Given the description of an element on the screen output the (x, y) to click on. 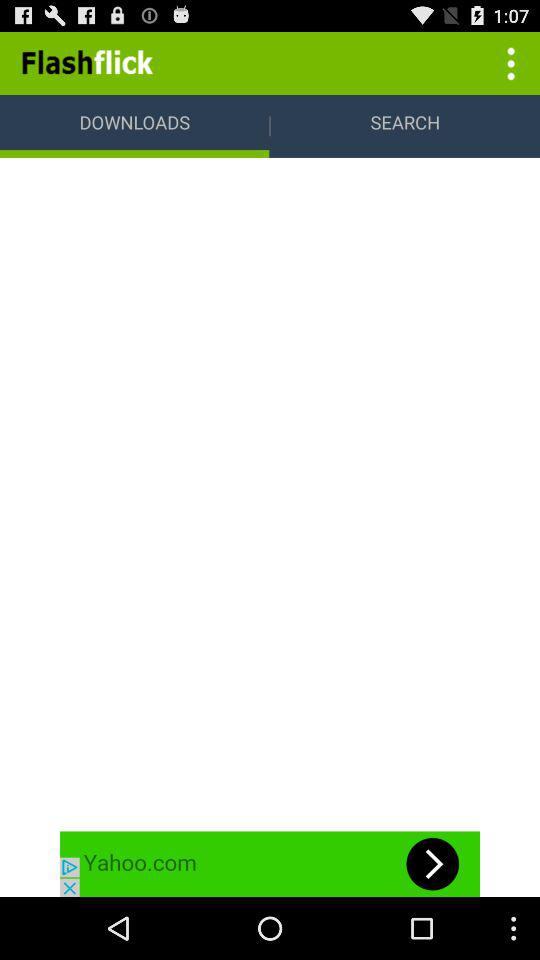
more options (508, 62)
